Given the description of an element on the screen output the (x, y) to click on. 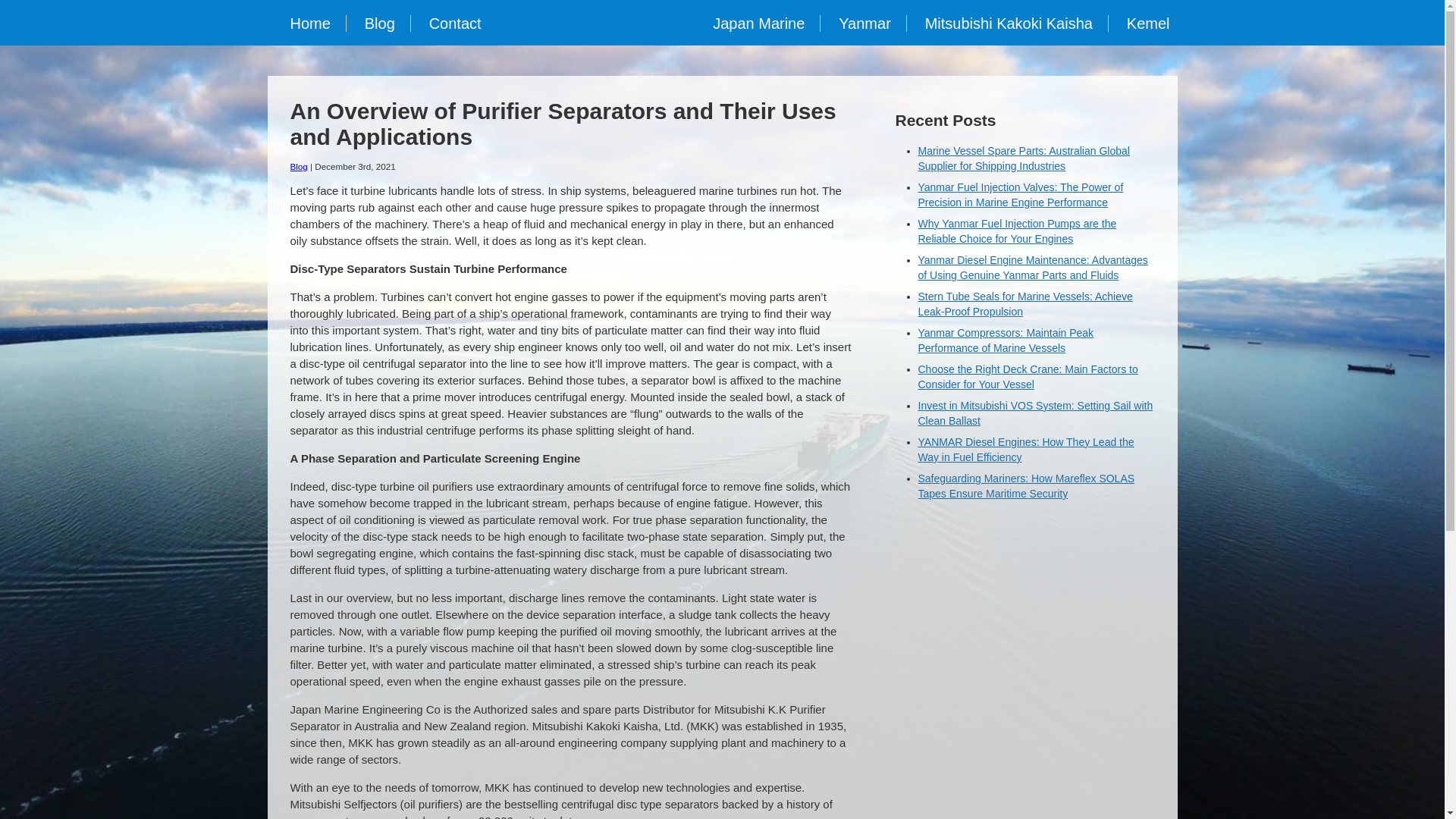
Blog (379, 23)
Home (310, 23)
Contact (454, 23)
Blog (298, 166)
Mitsubishi Kakoki Kaisha (1009, 23)
Yanmar (865, 23)
Kemel (1148, 23)
